Given the description of an element on the screen output the (x, y) to click on. 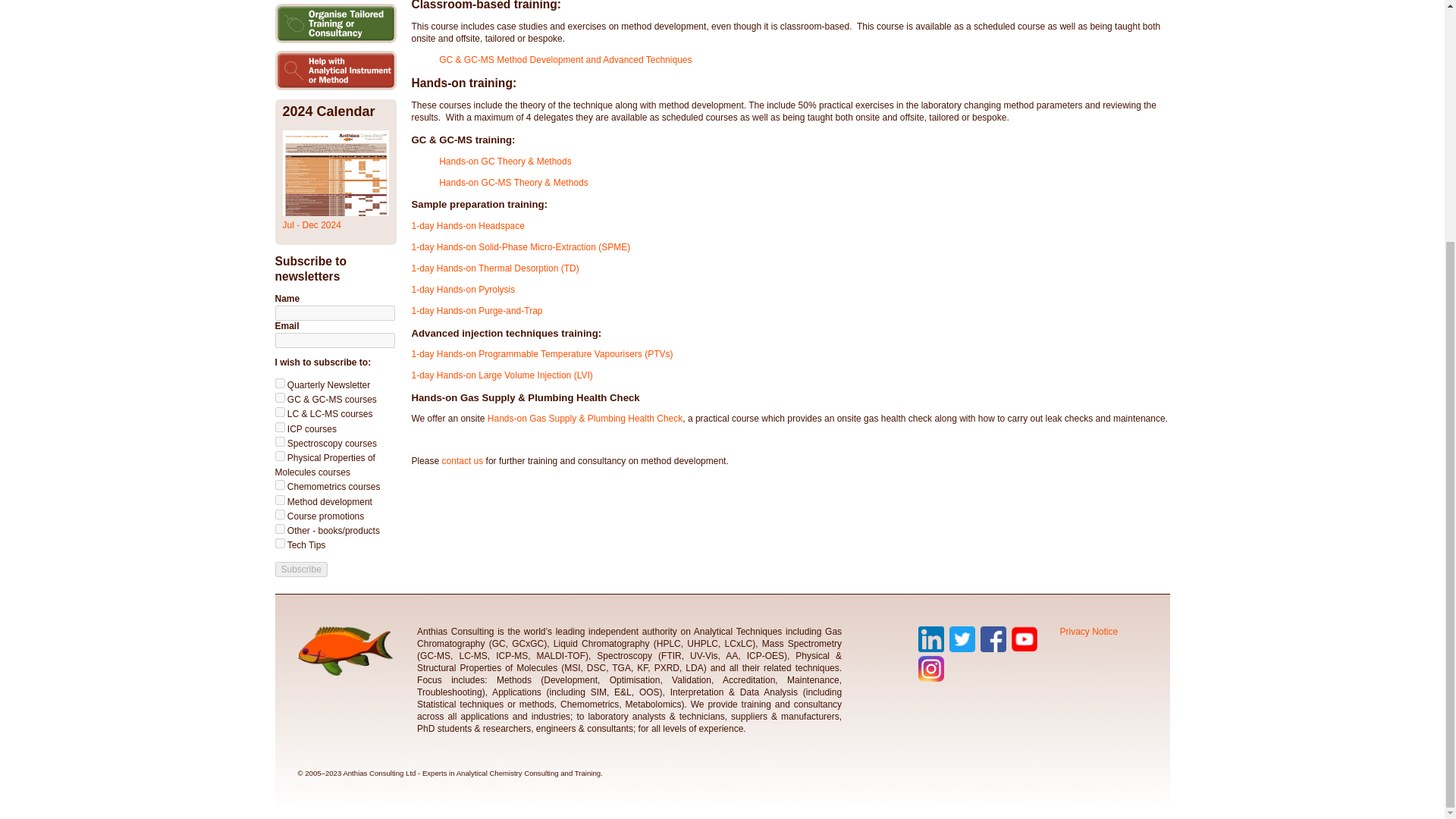
1545156 (279, 456)
783864 (279, 397)
1-day Hands-on Purge-and-Trap (475, 310)
1240783 (279, 542)
1-day Hands-on Pyrolysis (462, 289)
1545157 (279, 484)
931319 (279, 427)
783863 (279, 383)
1-day Hands-on Headspace (467, 225)
1545158 (279, 500)
contact us (462, 460)
783867 (279, 528)
783866 (279, 514)
931320 (279, 441)
931318 (279, 411)
